Given the description of an element on the screen output the (x, y) to click on. 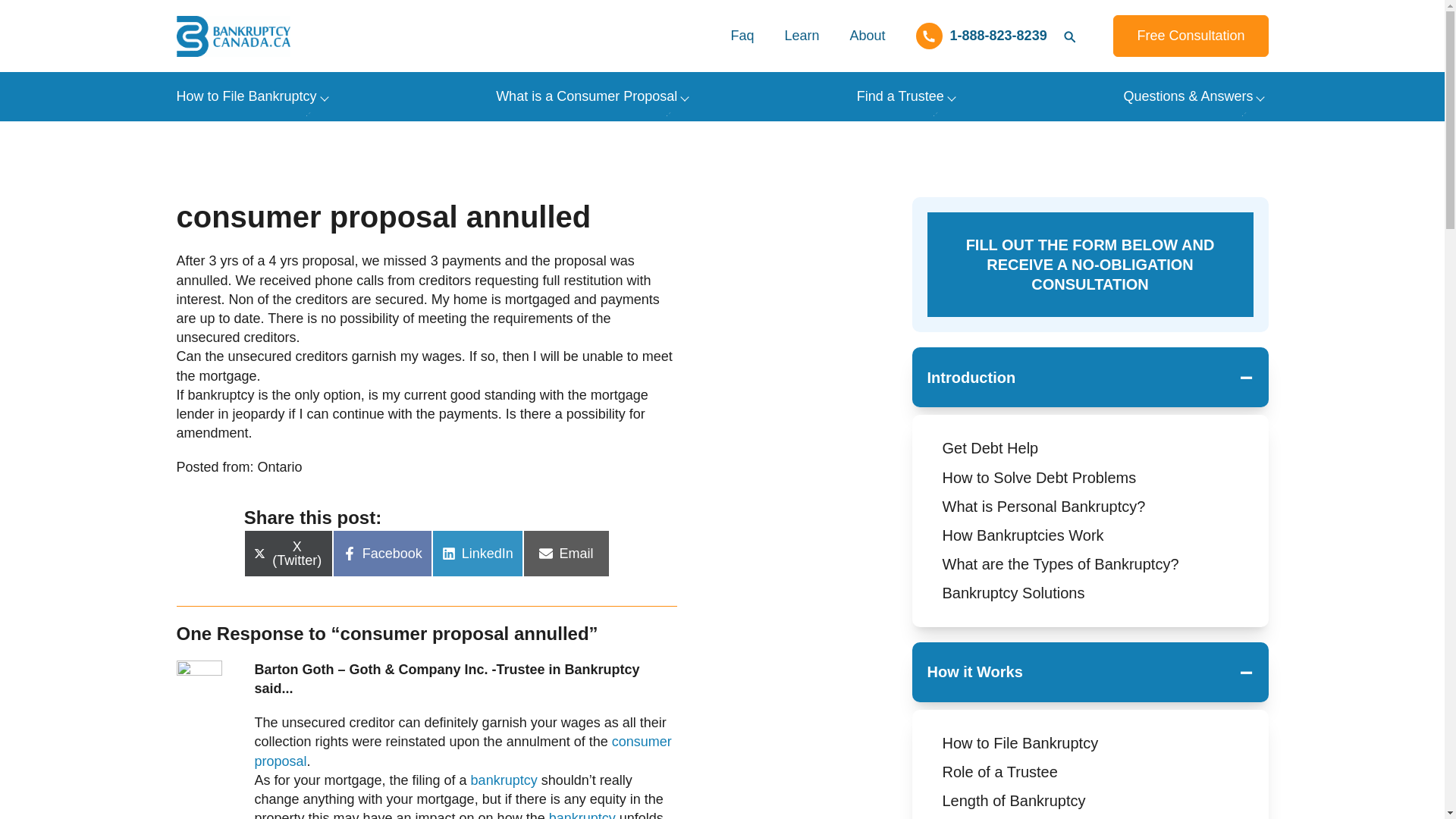
What is a Consumer Proposal (586, 96)
1-888-823-8239 (980, 35)
Faq (741, 35)
How to File Bankruptcy (245, 96)
Free Consultation (1190, 35)
About (866, 35)
Learn (801, 35)
